Given the description of an element on the screen output the (x, y) to click on. 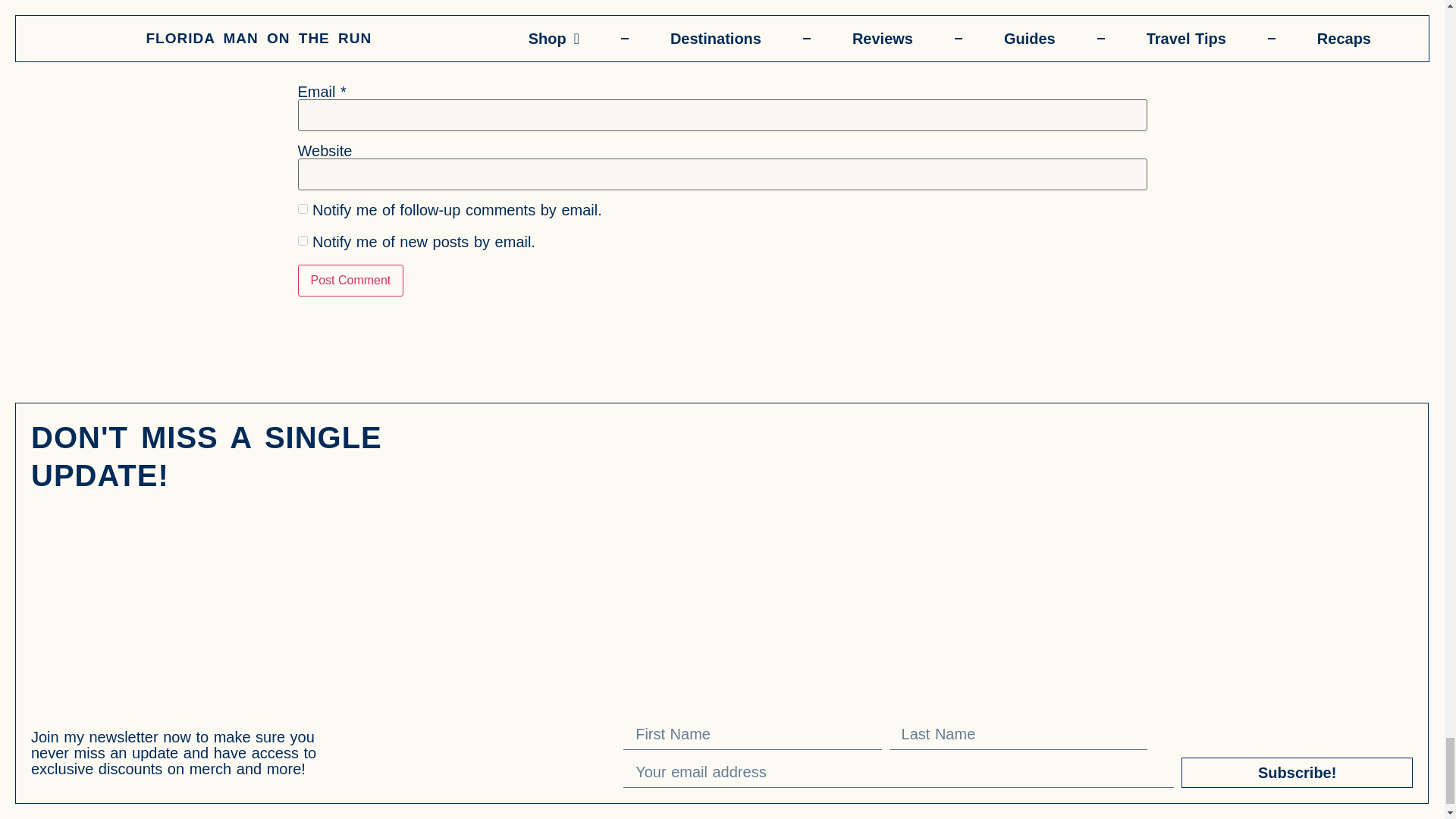
Post Comment (350, 280)
subscribe (302, 208)
subscribe (302, 240)
